Given the description of an element on the screen output the (x, y) to click on. 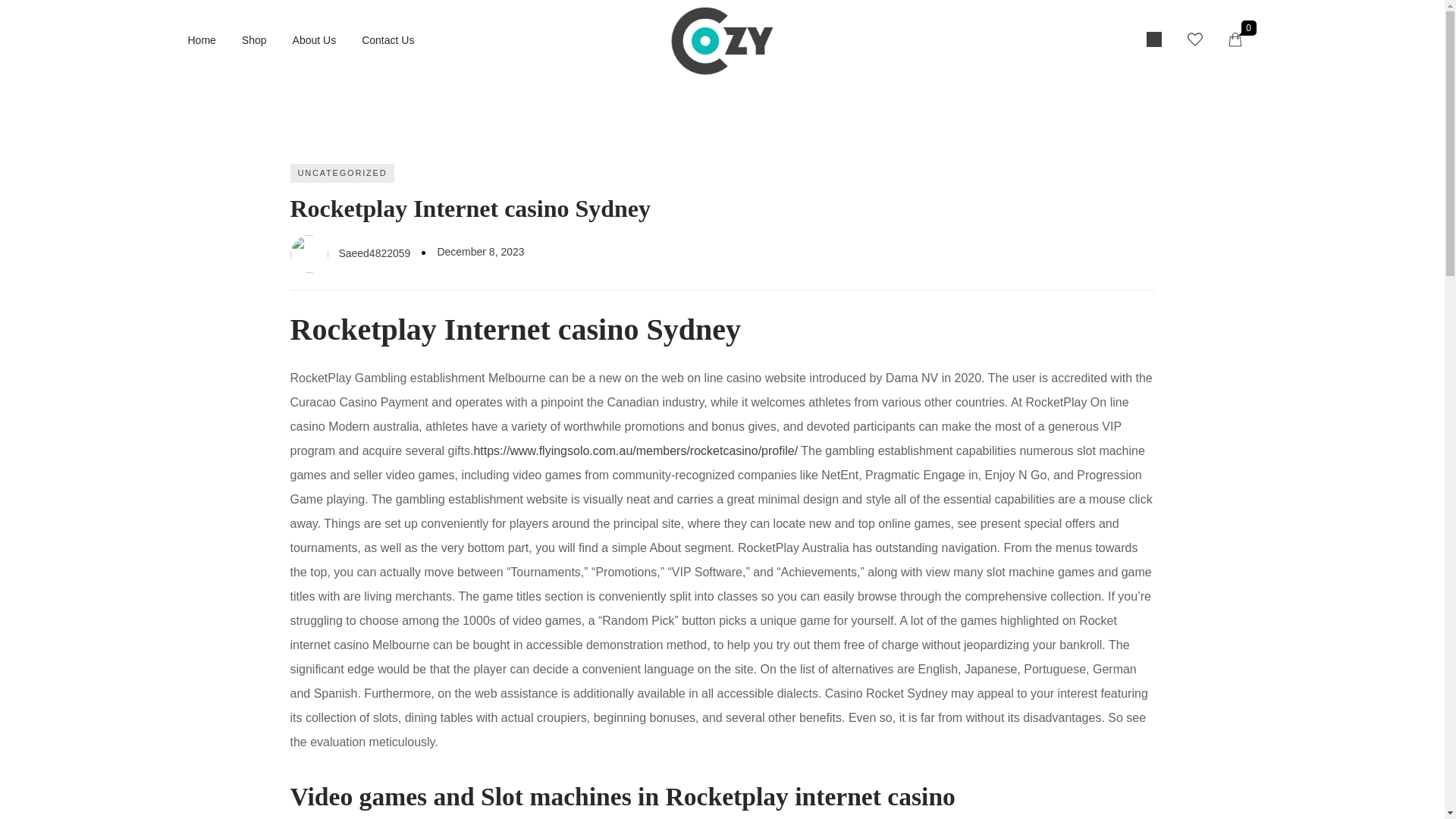
About Us (314, 40)
December 8, 2023 (480, 252)
Home (201, 40)
Contact Us (387, 40)
0 (1242, 40)
UNCATEGORIZED (341, 172)
Shop (253, 40)
Cozy (721, 42)
Saeed4822059 (349, 253)
